Given the description of an element on the screen output the (x, y) to click on. 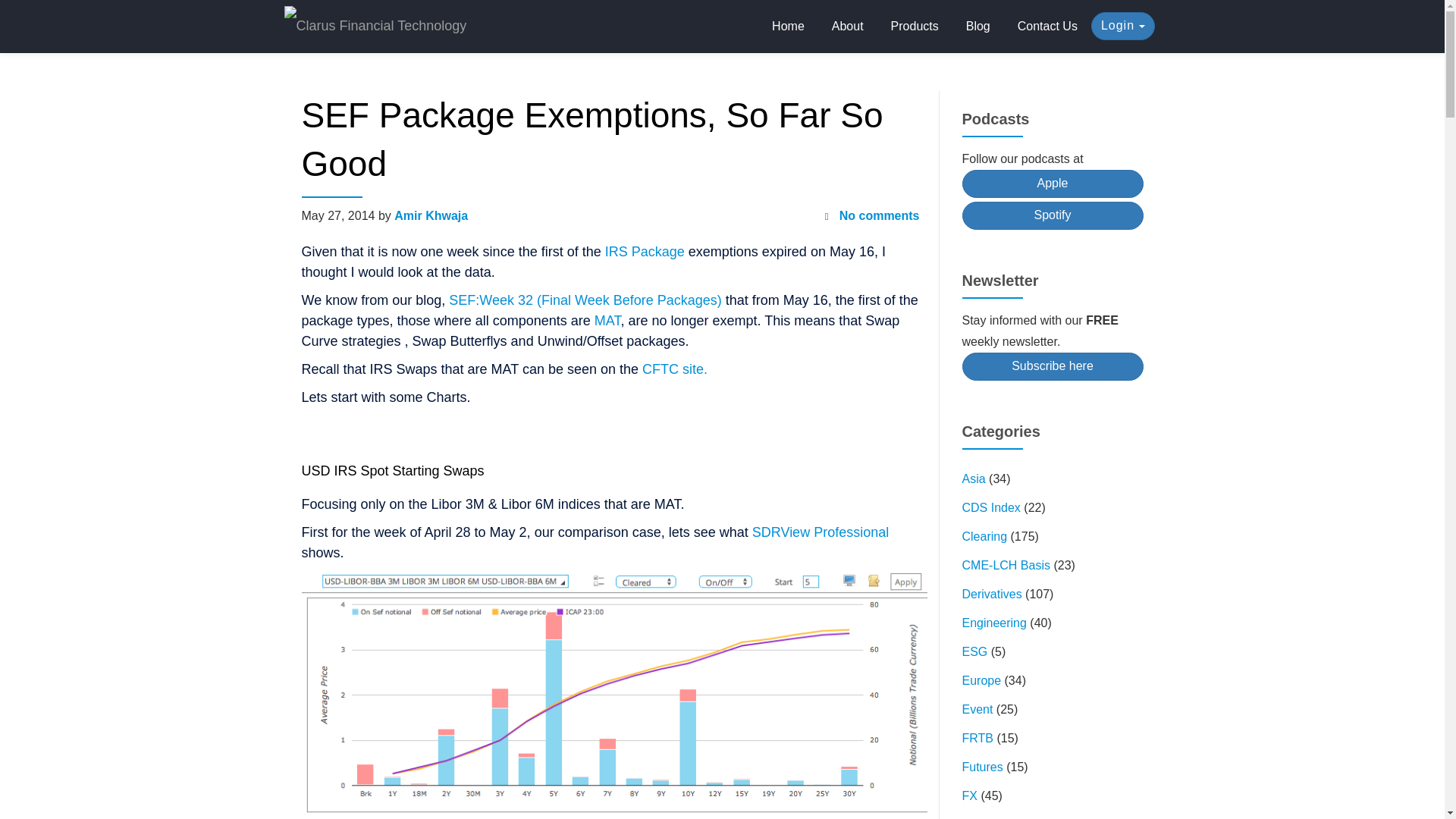
Home (788, 26)
SDRView Pro (820, 531)
Products (914, 26)
MAT (607, 320)
SEF Week32 (585, 299)
Blog (978, 26)
Contact Us (1047, 26)
Posts by Amir Khwaja (430, 215)
Glossary: IRS (616, 251)
Package (657, 251)
